Given the description of an element on the screen output the (x, y) to click on. 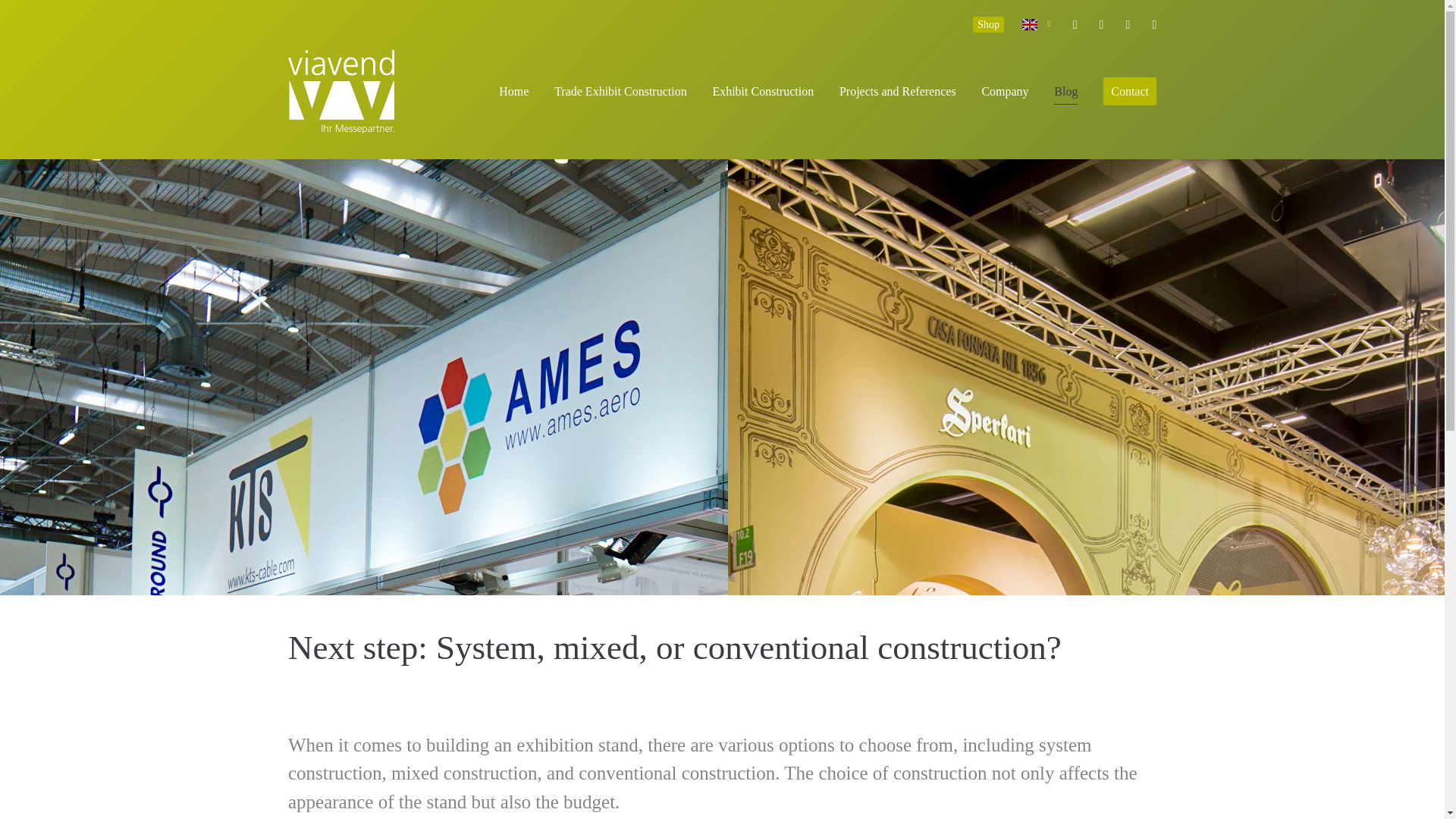
Shop (988, 24)
Shop (988, 24)
Exhibit Construction (762, 91)
Trade Exhibit Construction (620, 91)
